Given the description of an element on the screen output the (x, y) to click on. 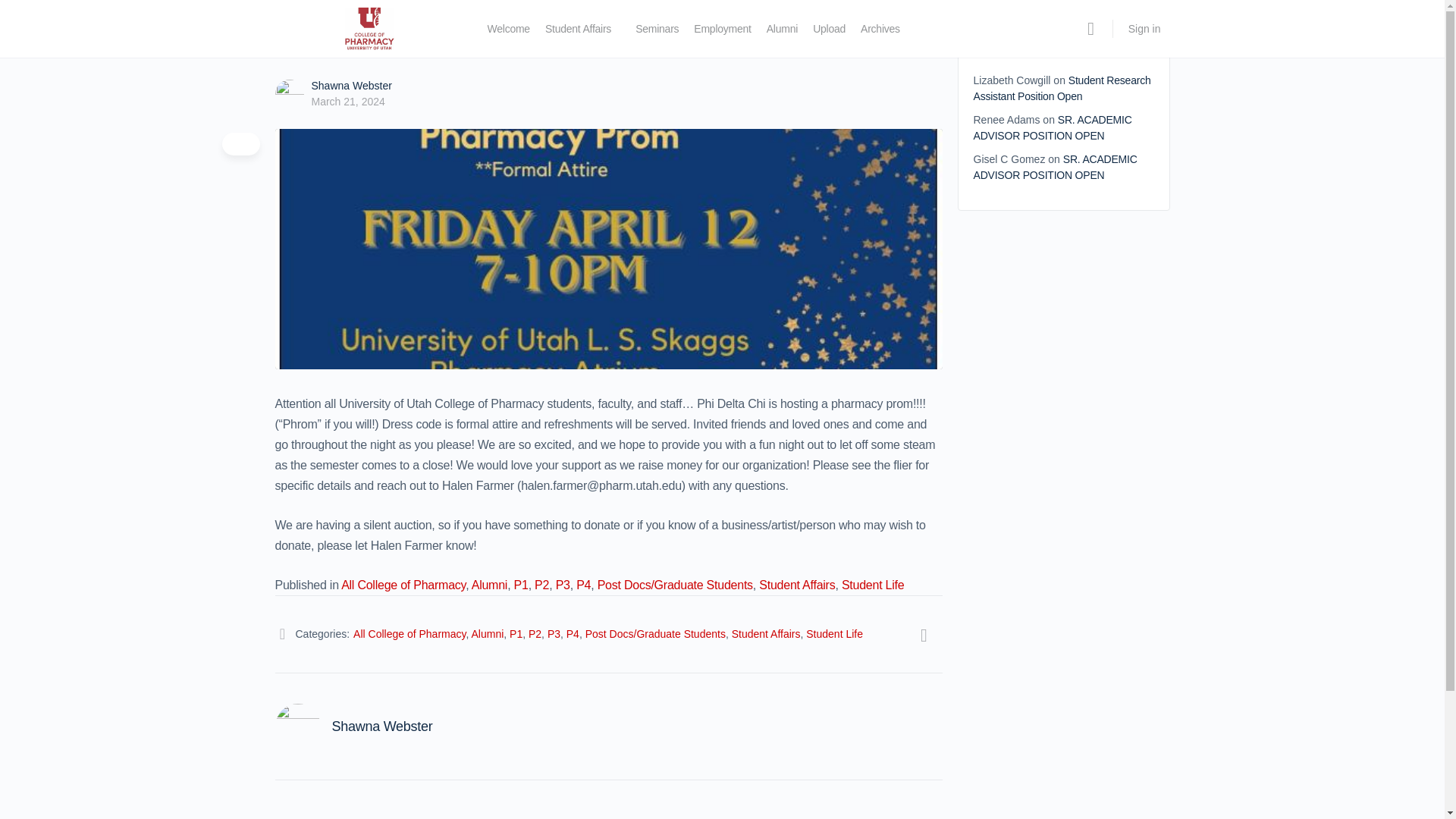
Sign in (1144, 28)
Employment (722, 28)
Student Affairs (577, 28)
